Given the description of an element on the screen output the (x, y) to click on. 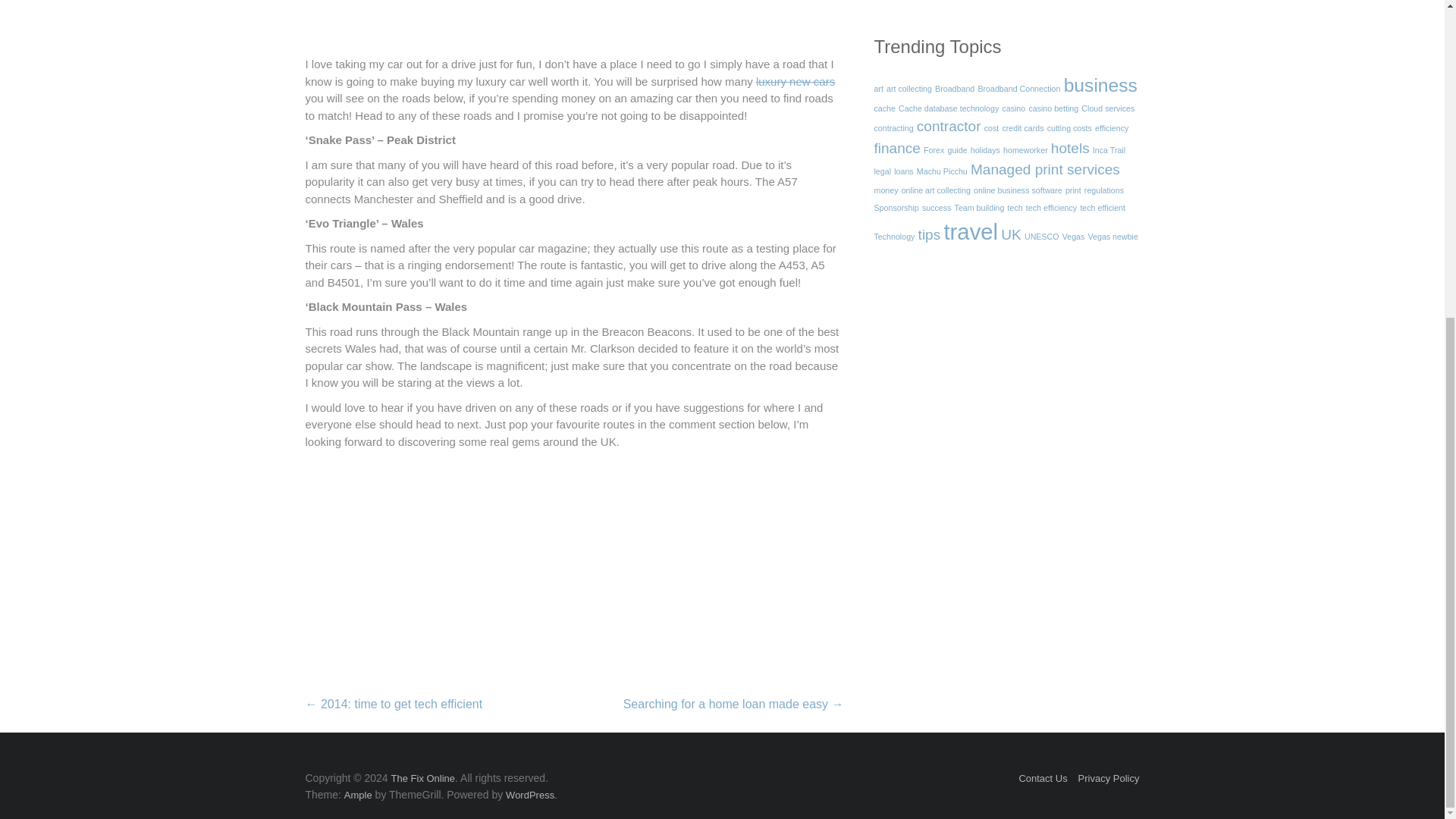
luxury new cars (794, 81)
WordPress (529, 794)
casino betting (1052, 108)
The Fix Online (423, 778)
Cache database technology (948, 108)
contractor (949, 125)
cost (991, 127)
casino (1013, 108)
cache (884, 108)
Cloud services (1107, 108)
art collecting (908, 88)
efficiency (1111, 127)
credit cards (1022, 127)
Broadband (954, 88)
business (1100, 85)
